Given the description of an element on the screen output the (x, y) to click on. 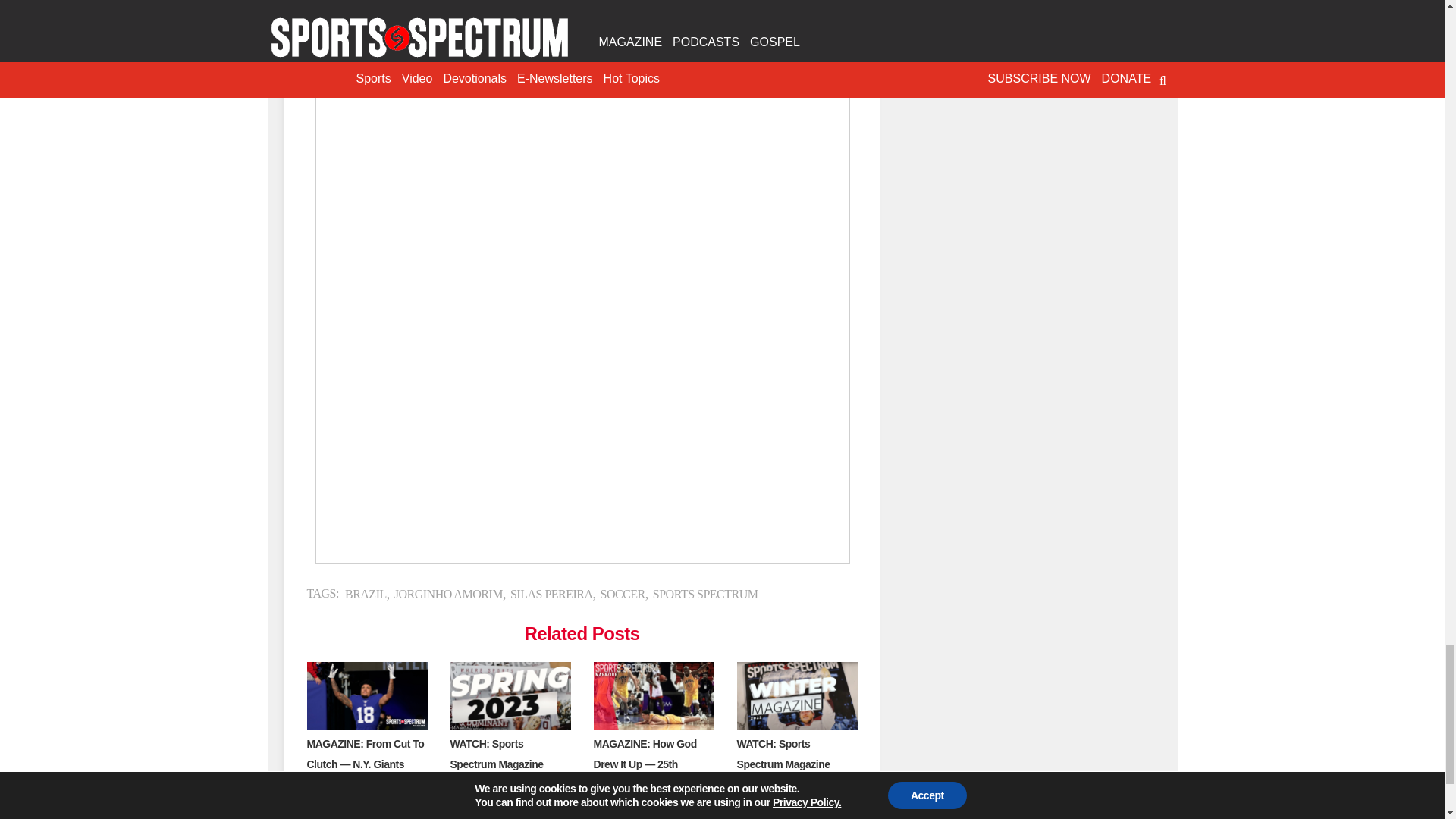
WATCH: Sports Spectrum Magazine Winter 2022 Trailer (782, 763)
BRAZIL (366, 594)
SILAS PEREIRA (551, 594)
JORGINHO AMORIM (448, 594)
WATCH: Sports Spectrum Magazine Spring 2023 Trailer (496, 763)
